Given the description of an element on the screen output the (x, y) to click on. 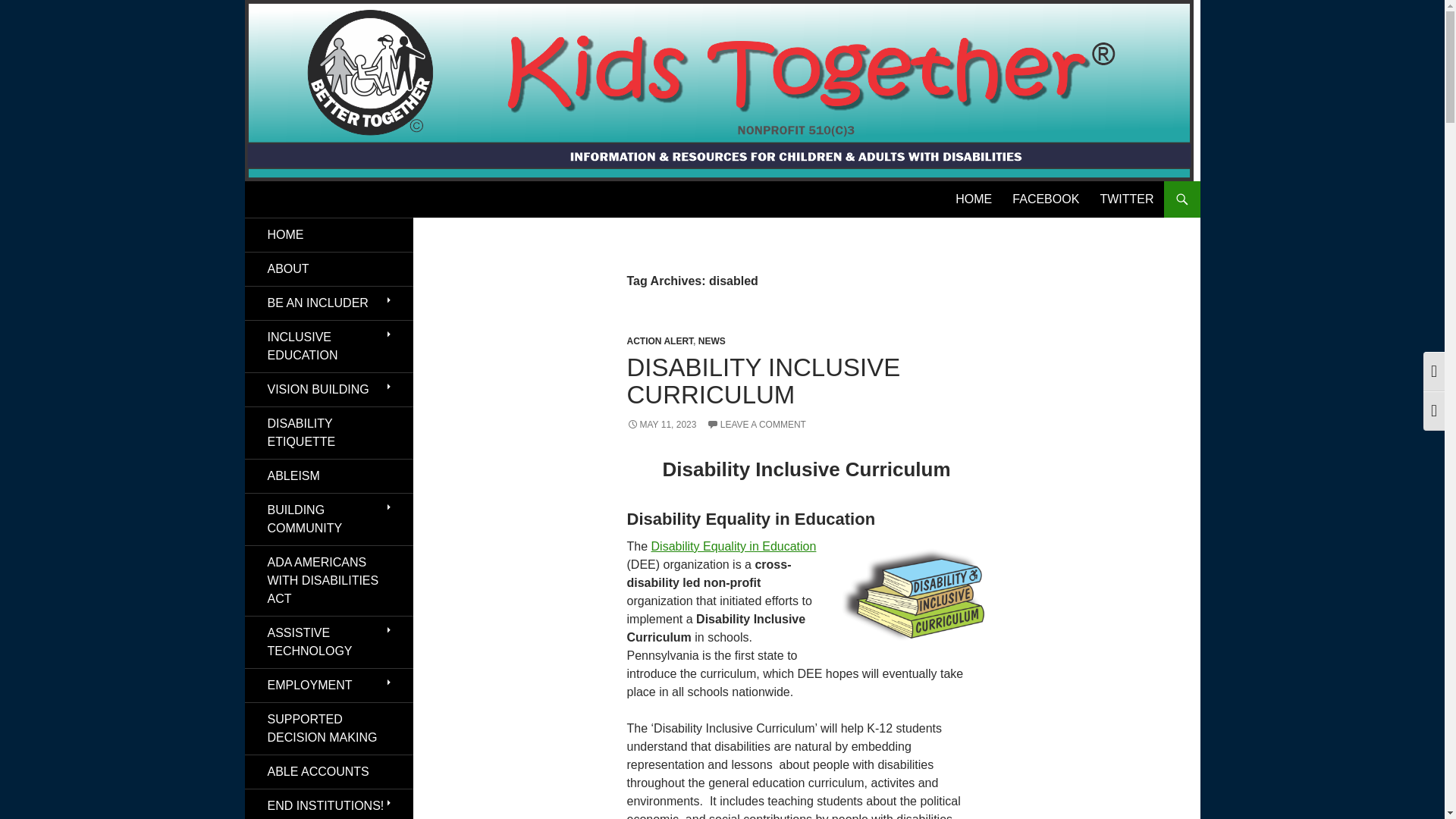
DISABILITY INCLUSIVE CURRICULUM (762, 380)
ACTION ALERT (659, 340)
LEAVE A COMMENT (756, 424)
Disability Equality in Education (733, 545)
HOME (973, 198)
MAY 11, 2023 (660, 424)
NEWS (711, 340)
Kids Together Inc. (325, 198)
TWITTER (1125, 198)
FACEBOOK (1045, 198)
